Given the description of an element on the screen output the (x, y) to click on. 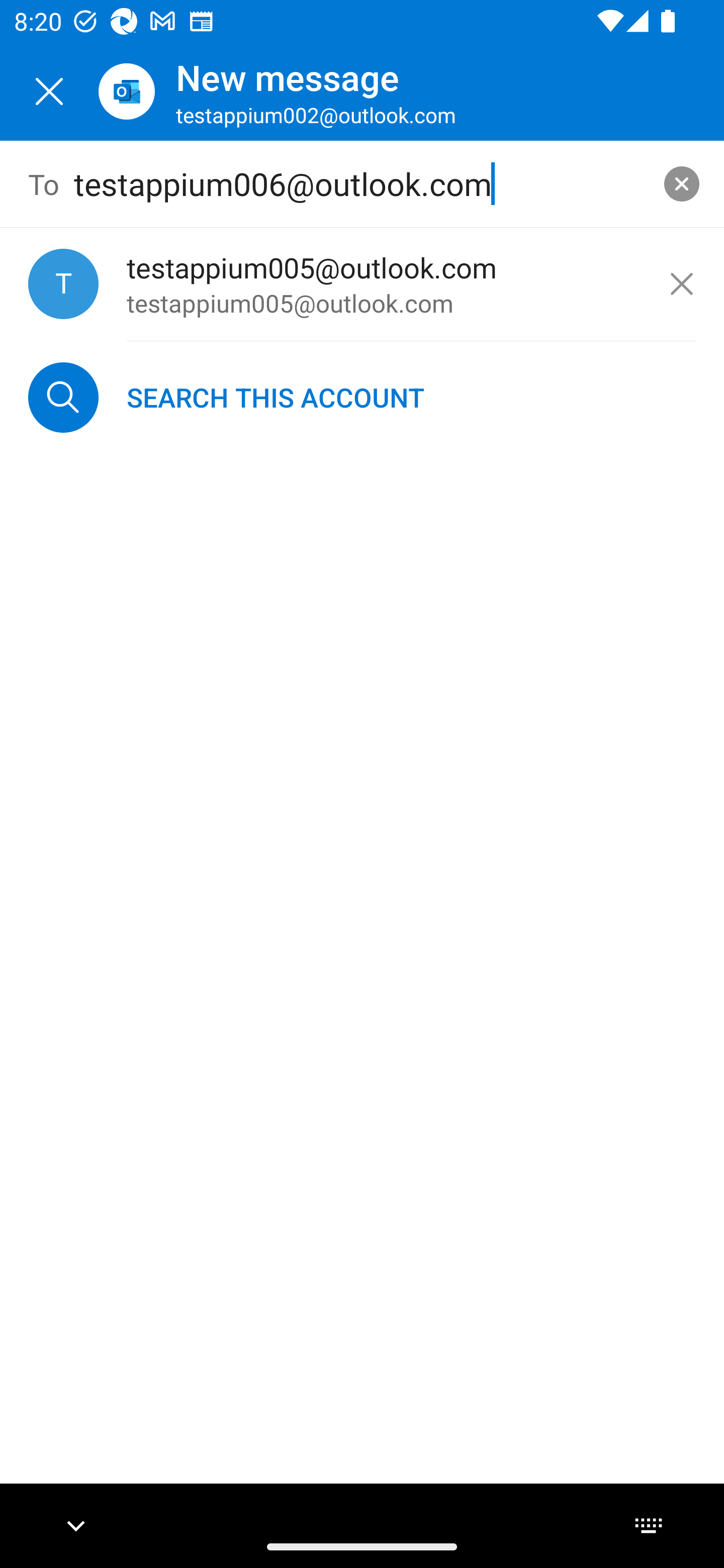
Close (49, 91)
testappium006@outlook.com (362, 184)
clear search (681, 183)
